Given the description of an element on the screen output the (x, y) to click on. 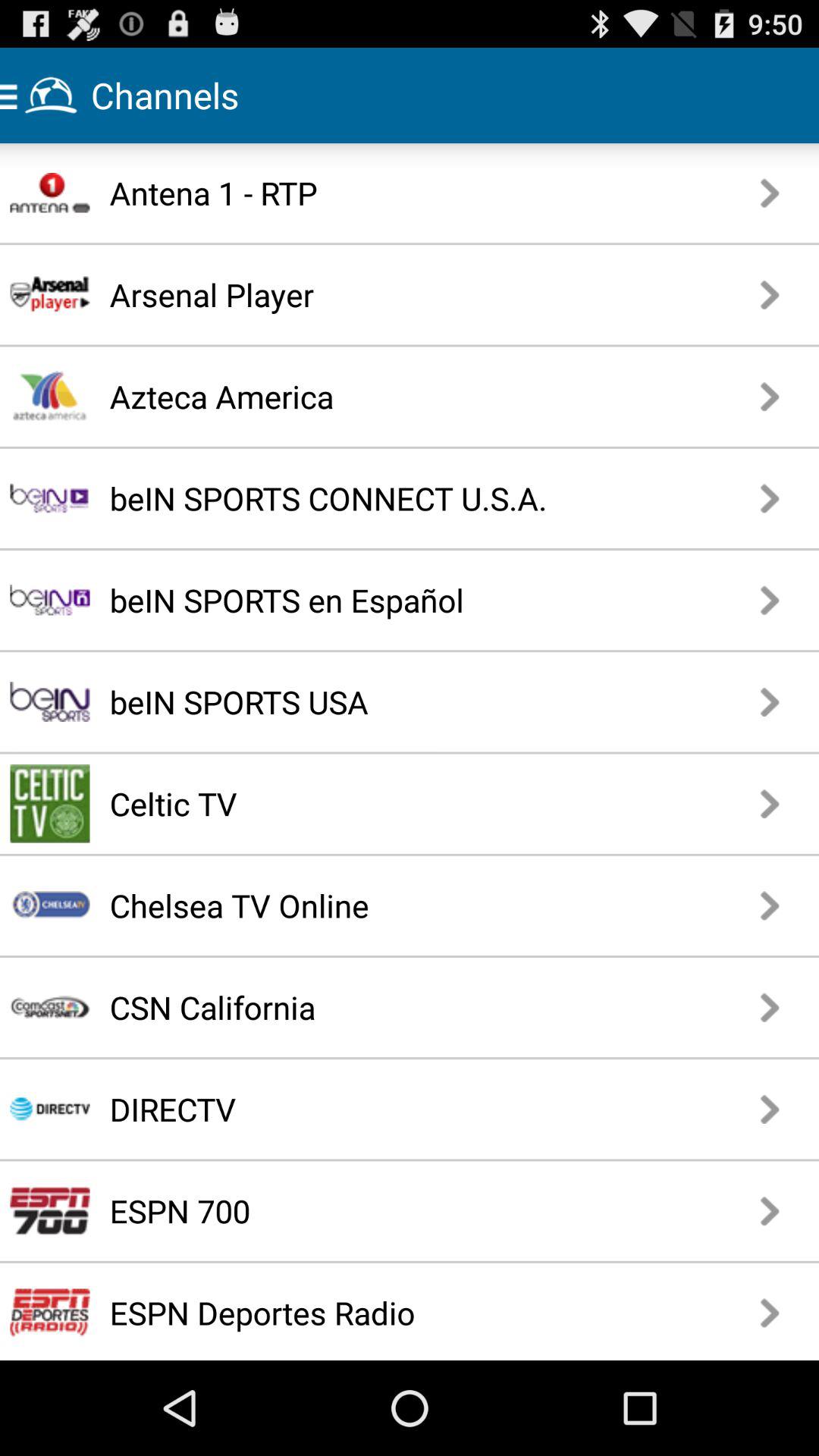
choose the item below the bein sports usa (355, 803)
